Given the description of an element on the screen output the (x, y) to click on. 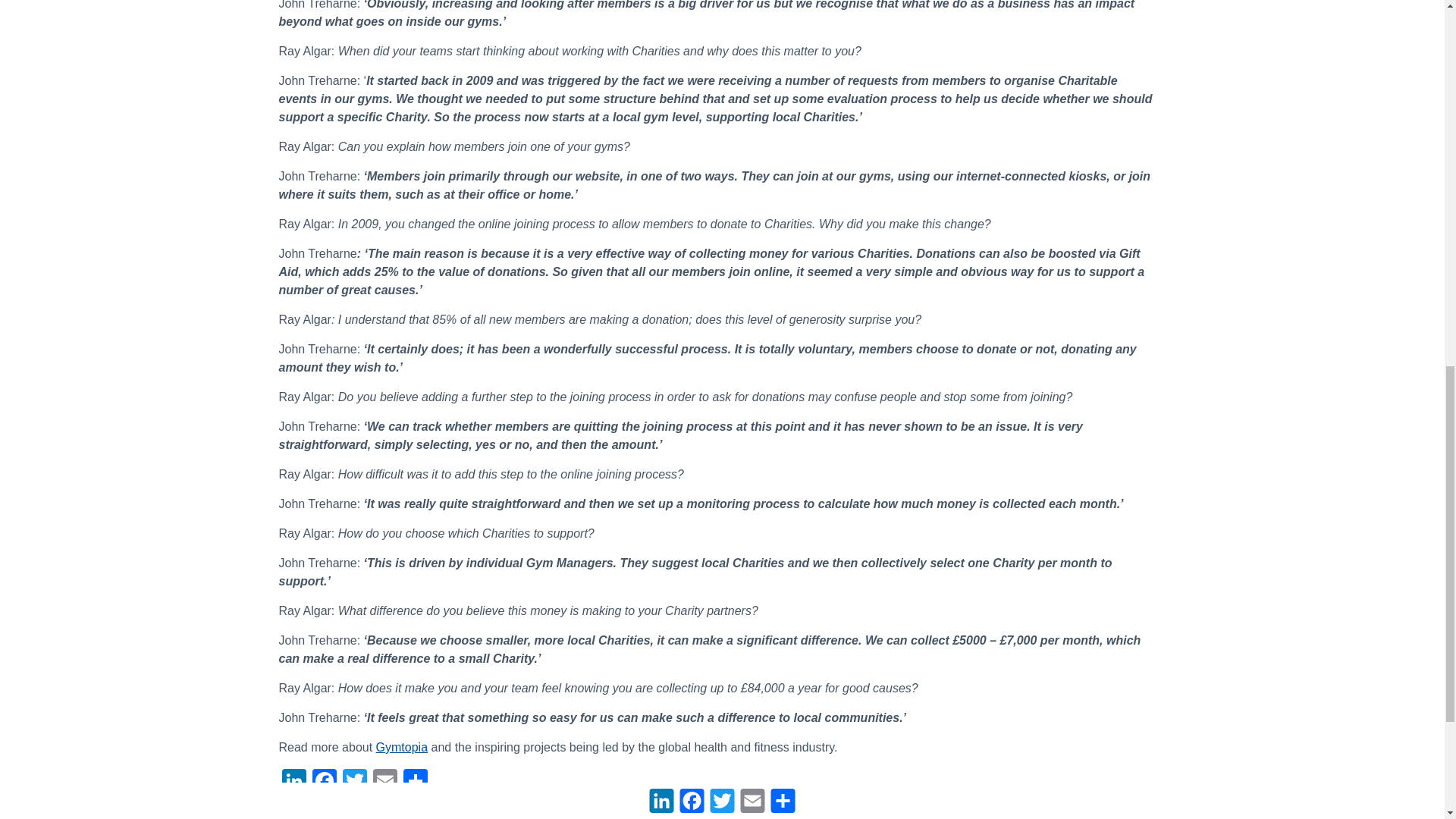
LinkedIn (293, 782)
John Treharne (566, 817)
Twitter (354, 782)
LinkedIn (293, 782)
Facebook (323, 782)
Email (384, 782)
Facebook (323, 782)
Charities (437, 817)
Bridges Ventures (360, 817)
Twitter (354, 782)
